Given the description of an element on the screen output the (x, y) to click on. 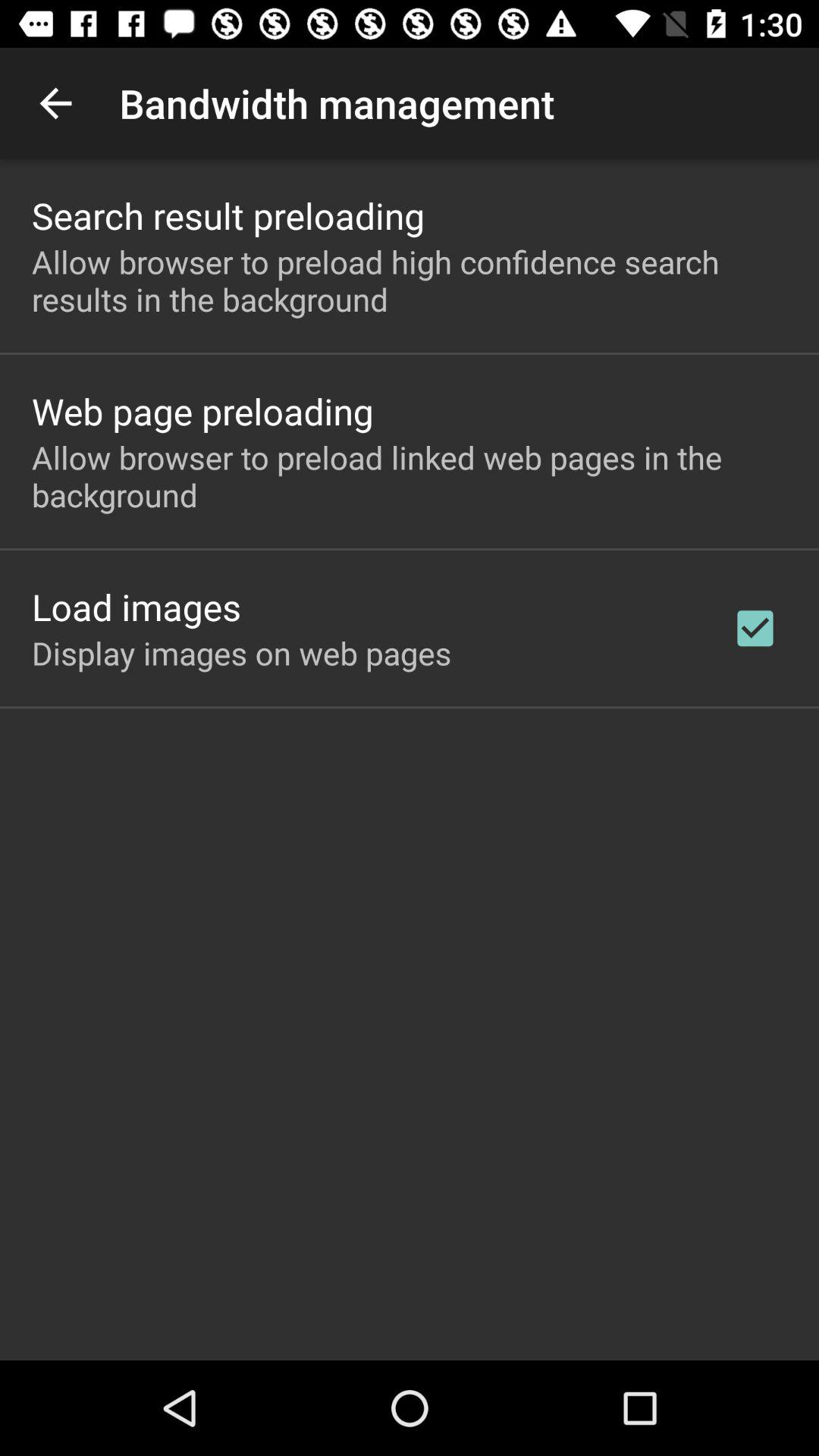
open icon below the allow browser to (755, 628)
